Given the description of an element on the screen output the (x, y) to click on. 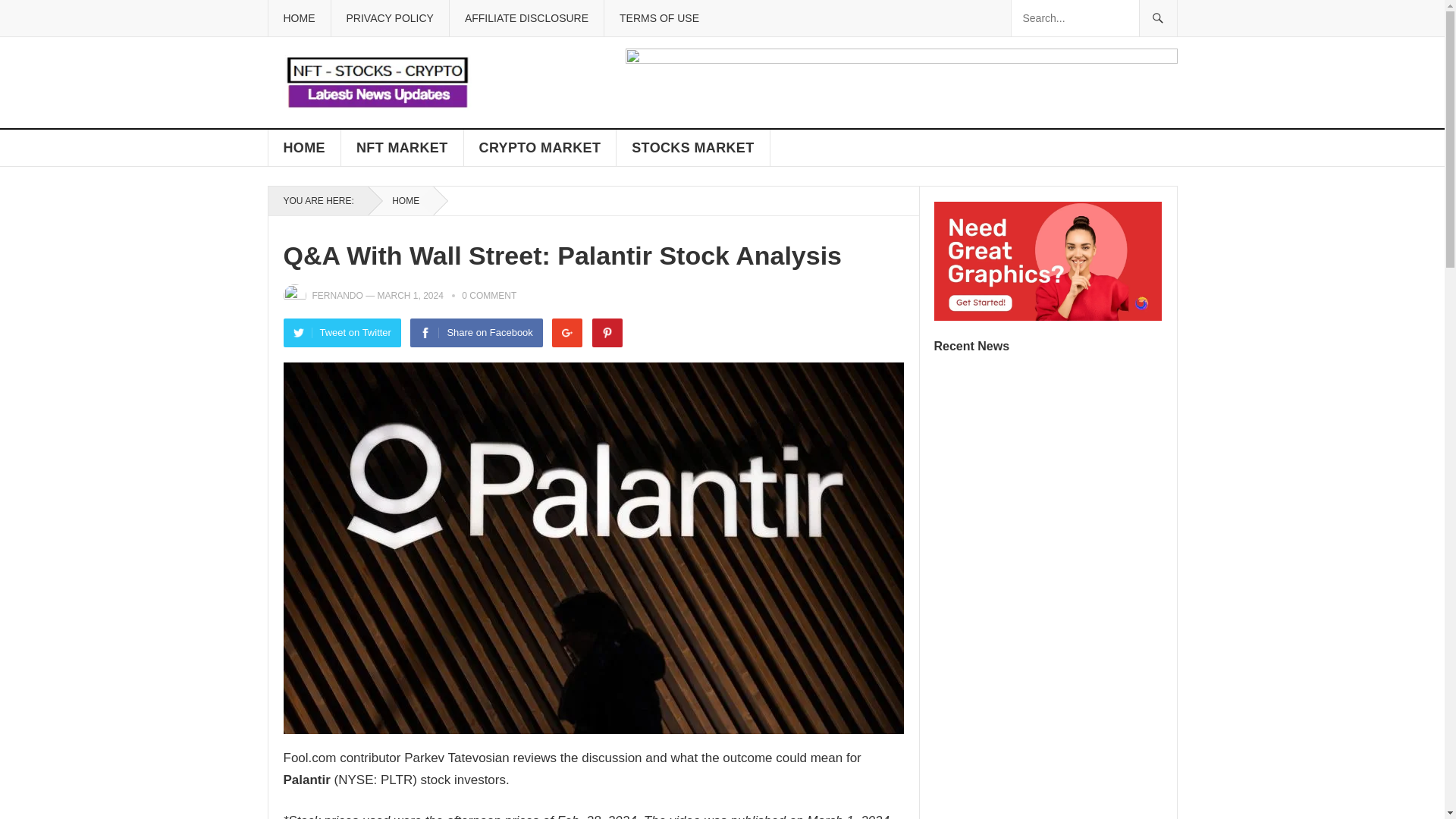
Tweet on Twitter (342, 332)
Share on Facebook (475, 332)
Posts by Fernando (337, 295)
NFT MARKET (402, 147)
FERNANDO (337, 295)
HOME (303, 147)
HOME (400, 200)
AFFILIATE DISCLOSURE (526, 18)
0 COMMENT (488, 295)
Pinterest (607, 332)
